Given the description of an element on the screen output the (x, y) to click on. 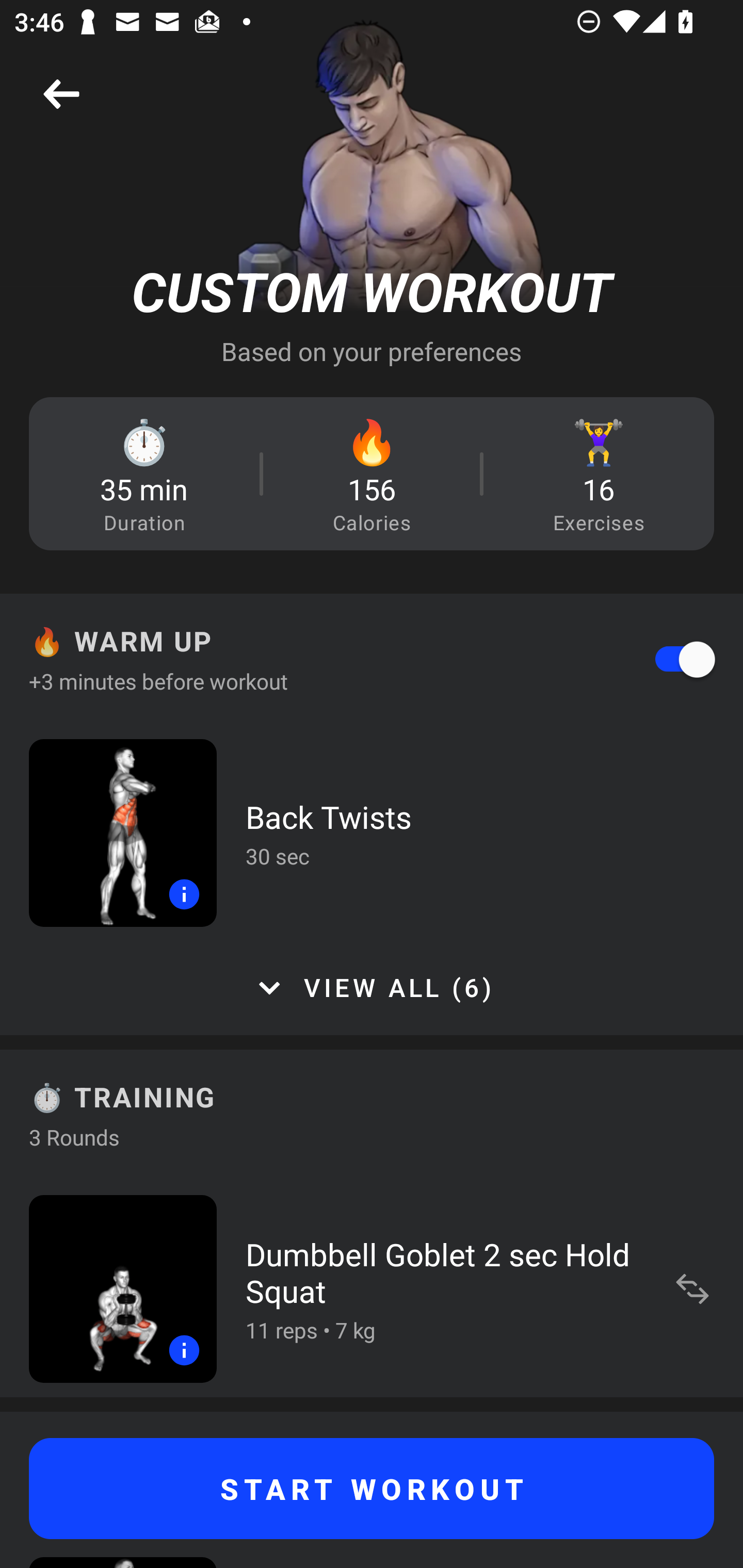
Back Twists 30 sec (371, 832)
VIEW ALL (6) (371, 987)
Dumbbell Goblet 2 sec Hold Squat 11 reps • 7 kg (371, 1288)
START WORKOUT (371, 1488)
